Given the description of an element on the screen output the (x, y) to click on. 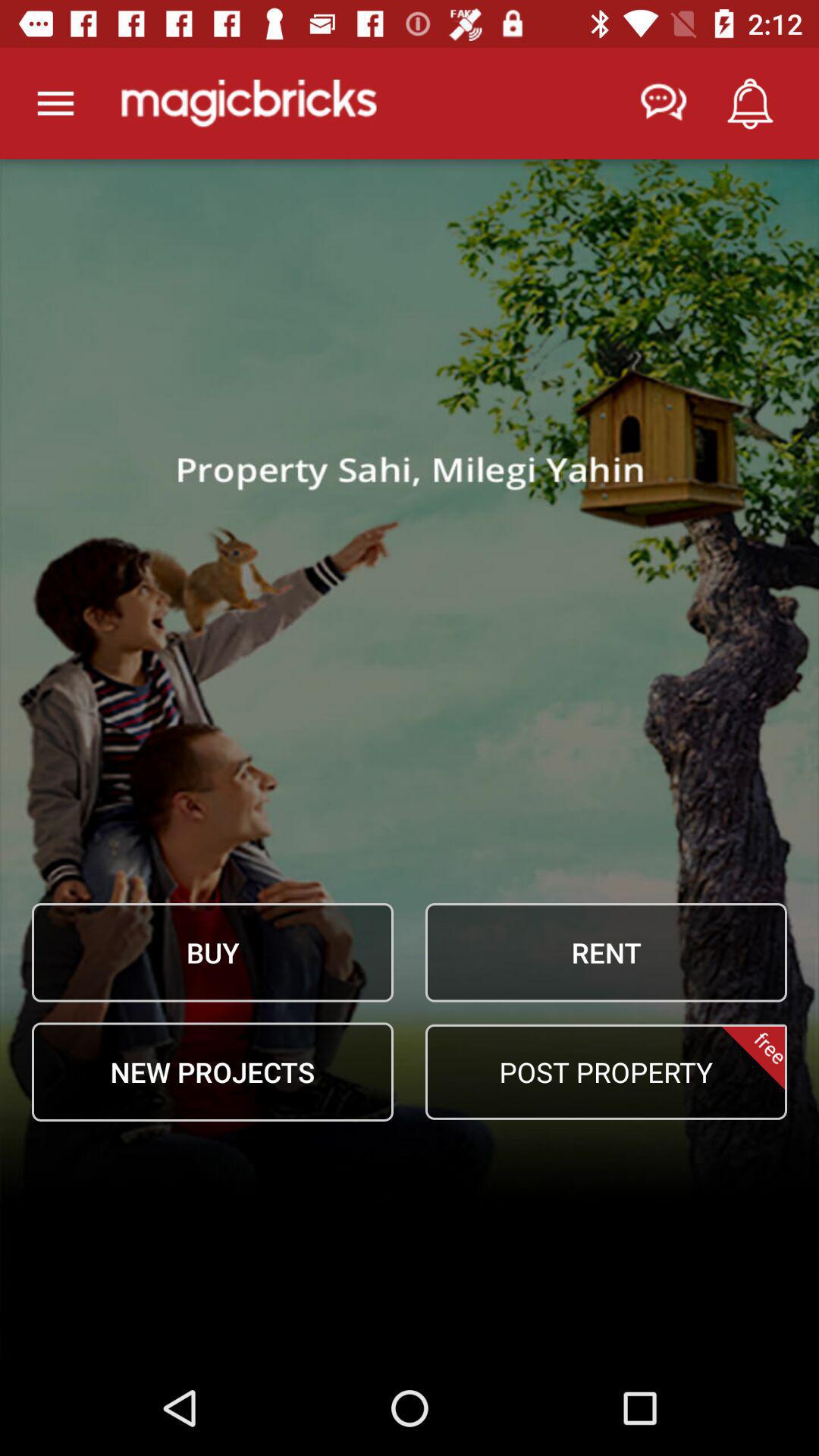
open main menu (55, 103)
